Given the description of an element on the screen output the (x, y) to click on. 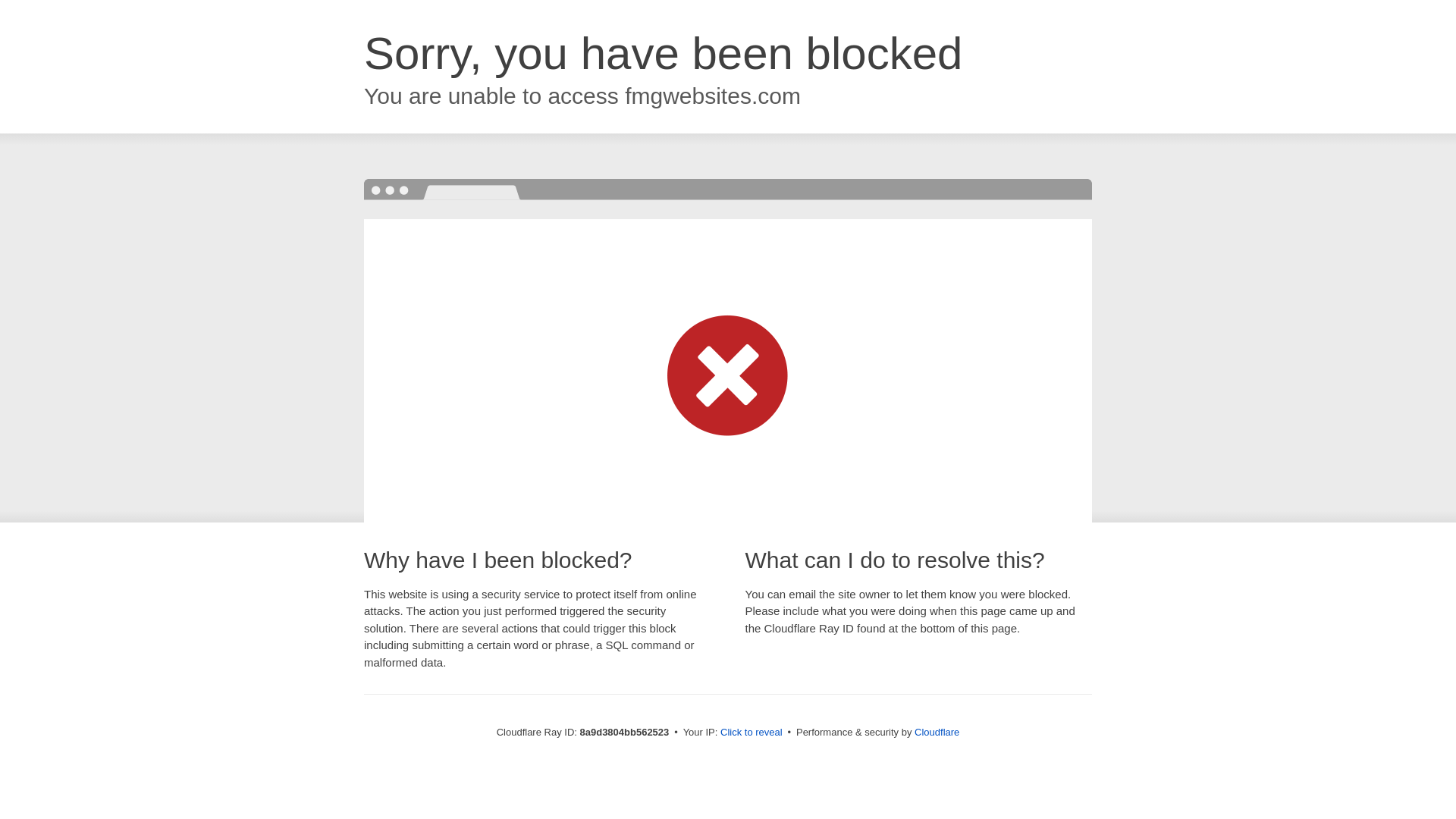
Click to reveal (751, 732)
Cloudflare (936, 731)
